Given the description of an element on the screen output the (x, y) to click on. 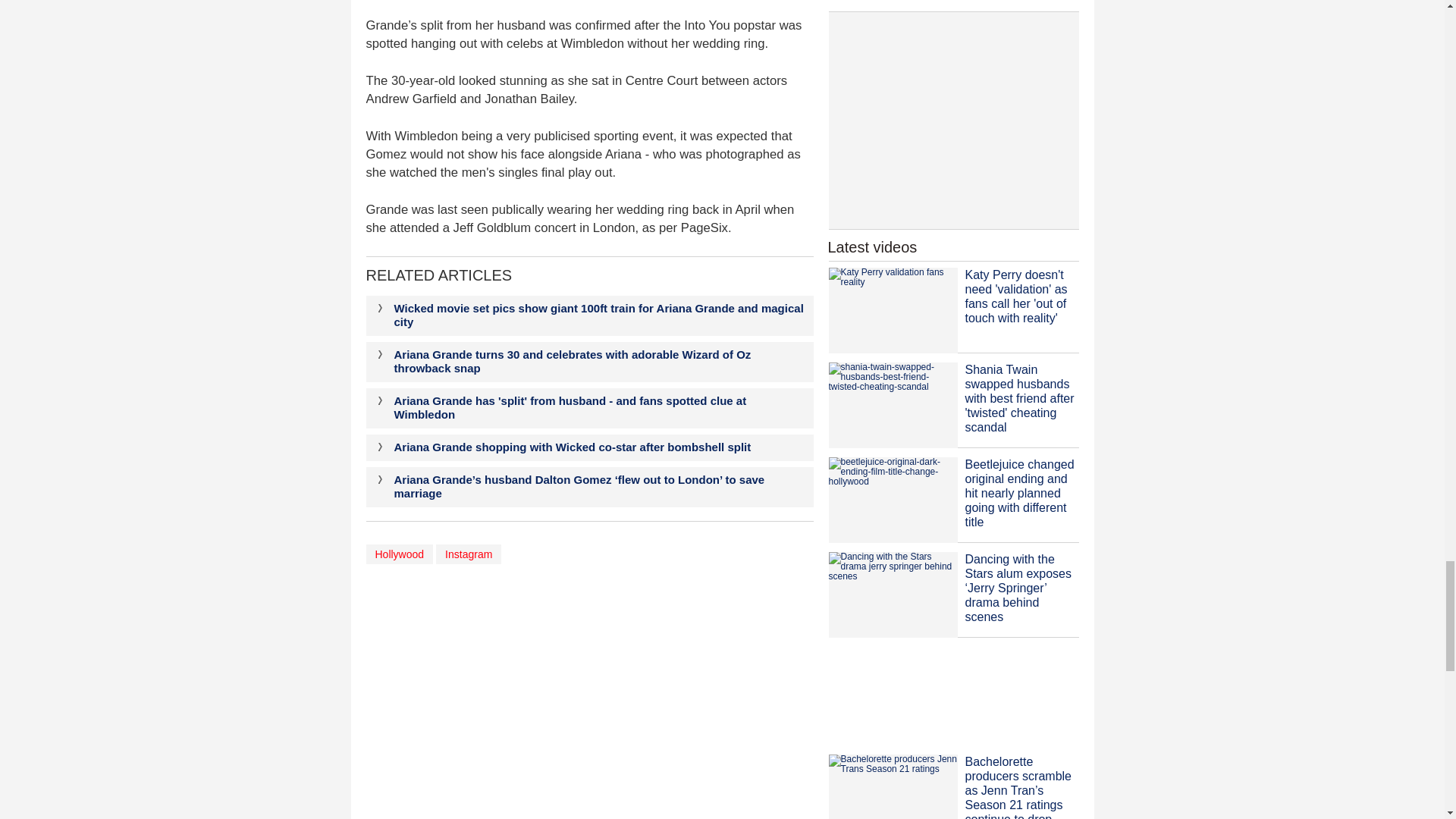
Instagram (467, 554)
Hollywood (398, 554)
